Given the description of an element on the screen output the (x, y) to click on. 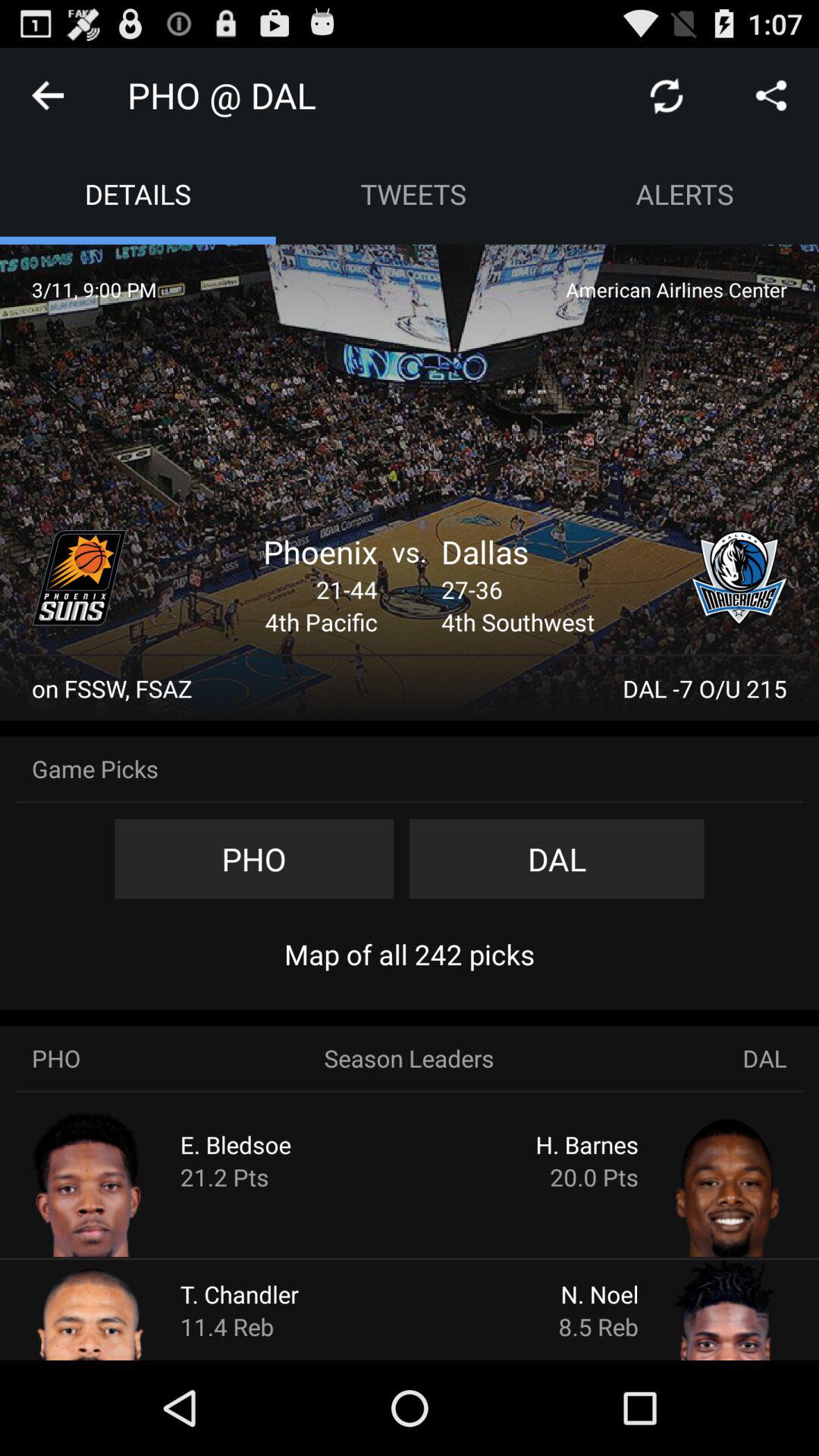
refresh content (666, 95)
